Given the description of an element on the screen output the (x, y) to click on. 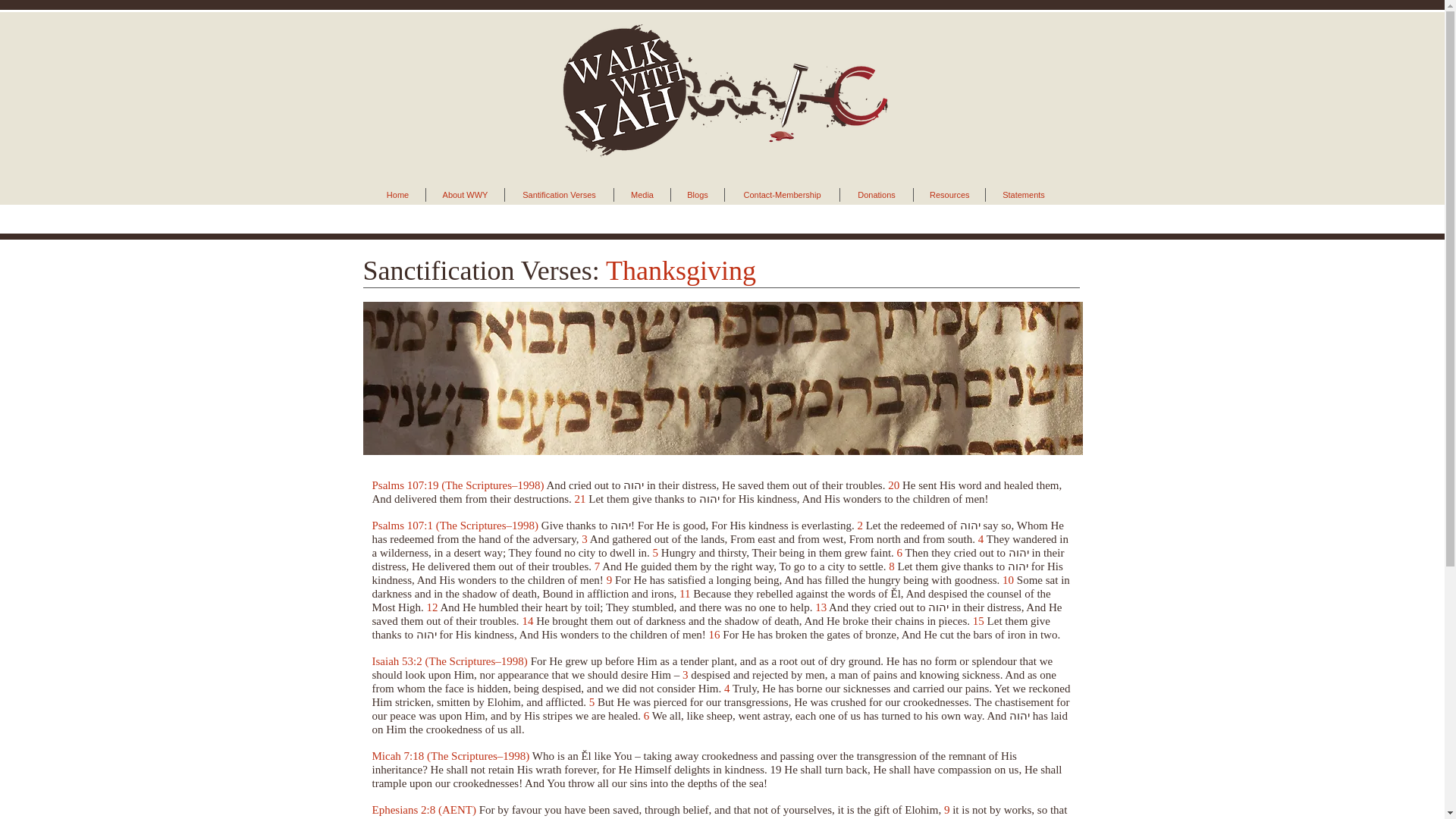
Santification Verses (558, 194)
Donations (876, 194)
Statements (1023, 194)
Blogs (697, 194)
Home (397, 194)
